Given the description of an element on the screen output the (x, y) to click on. 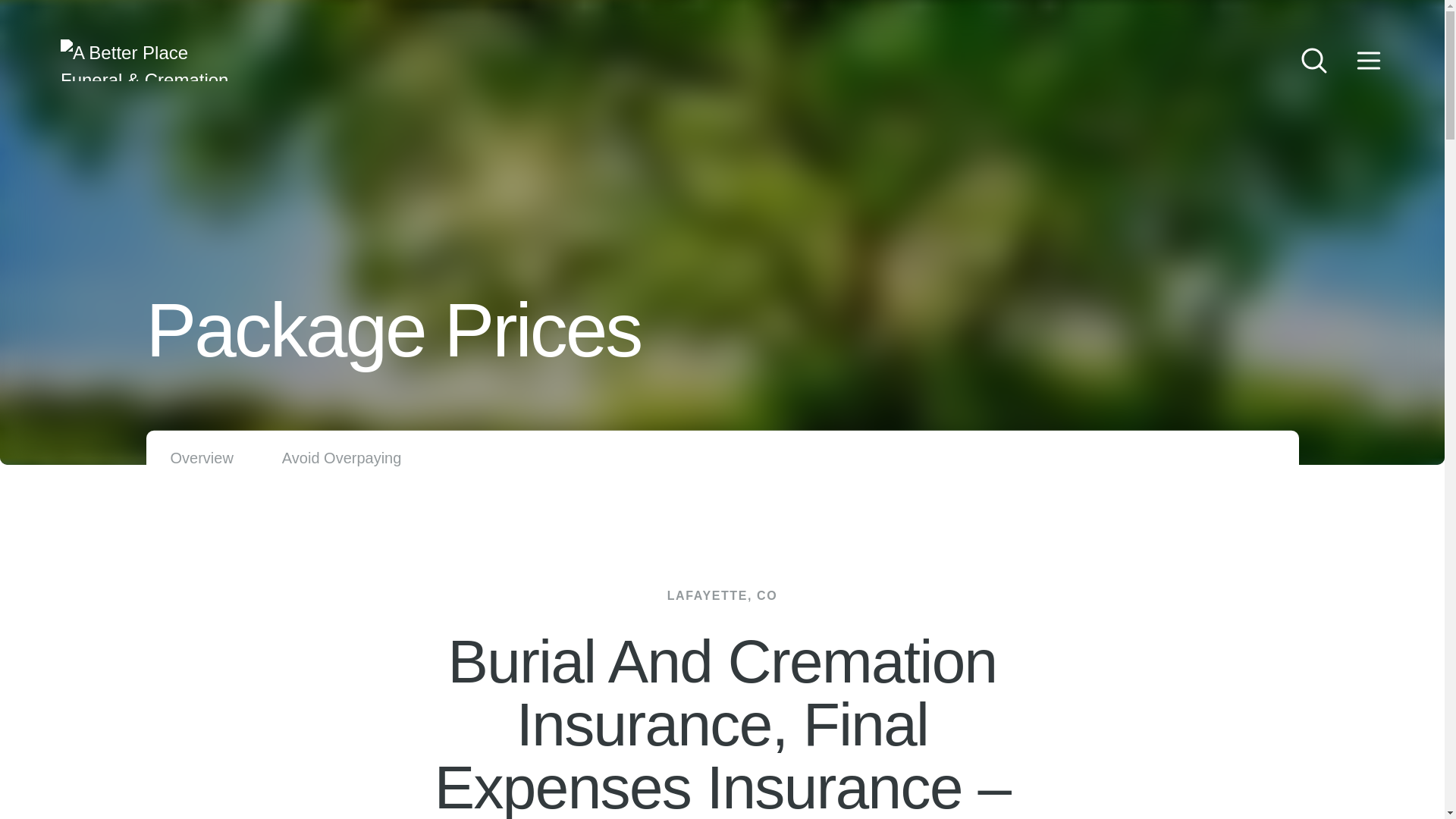
Skip to content (30, 15)
Overview (201, 458)
Avoid Overpaying (341, 458)
